Given the description of an element on the screen output the (x, y) to click on. 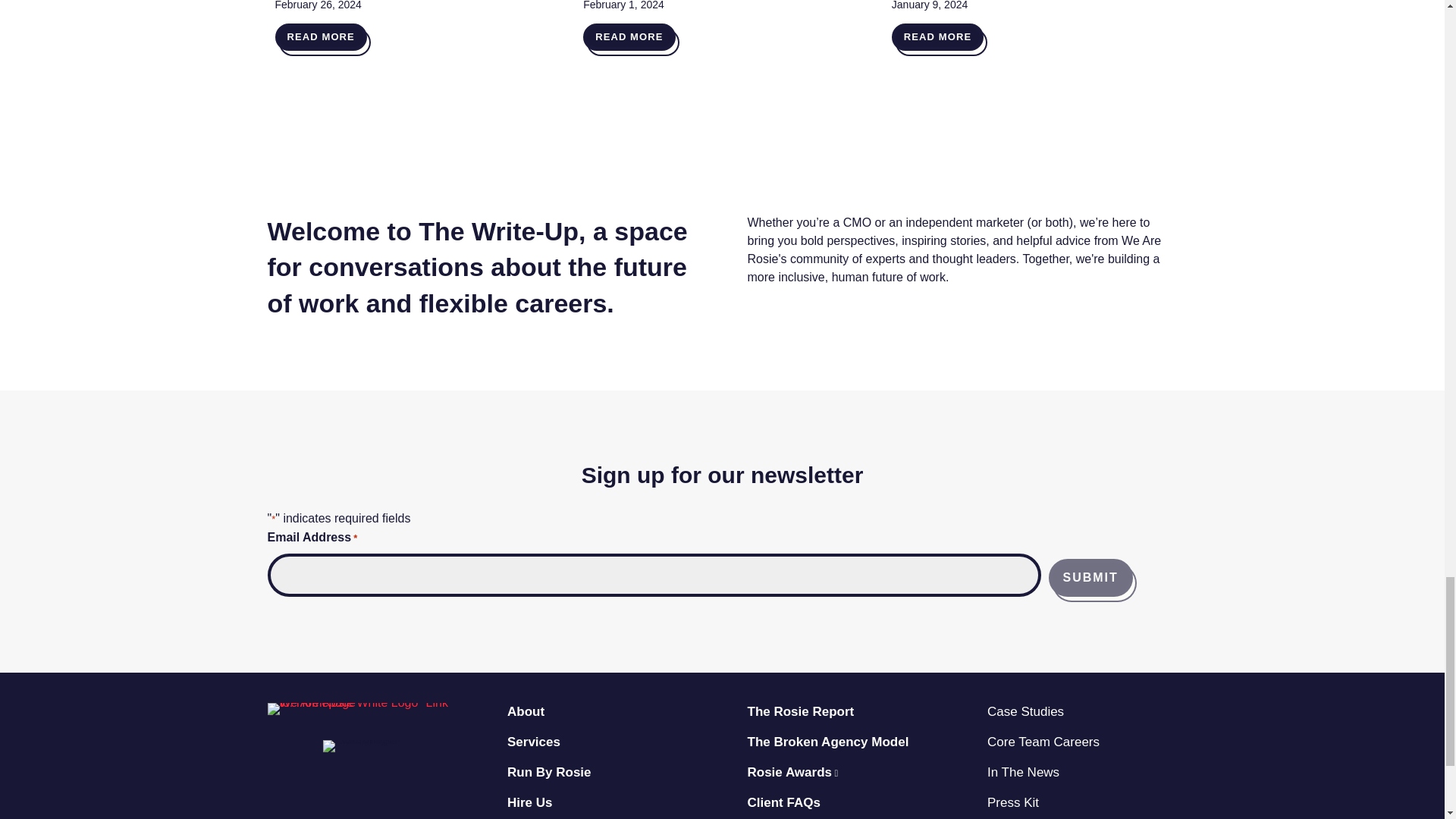
WRR Logo Footer (361, 708)
